Given the description of an element on the screen output the (x, y) to click on. 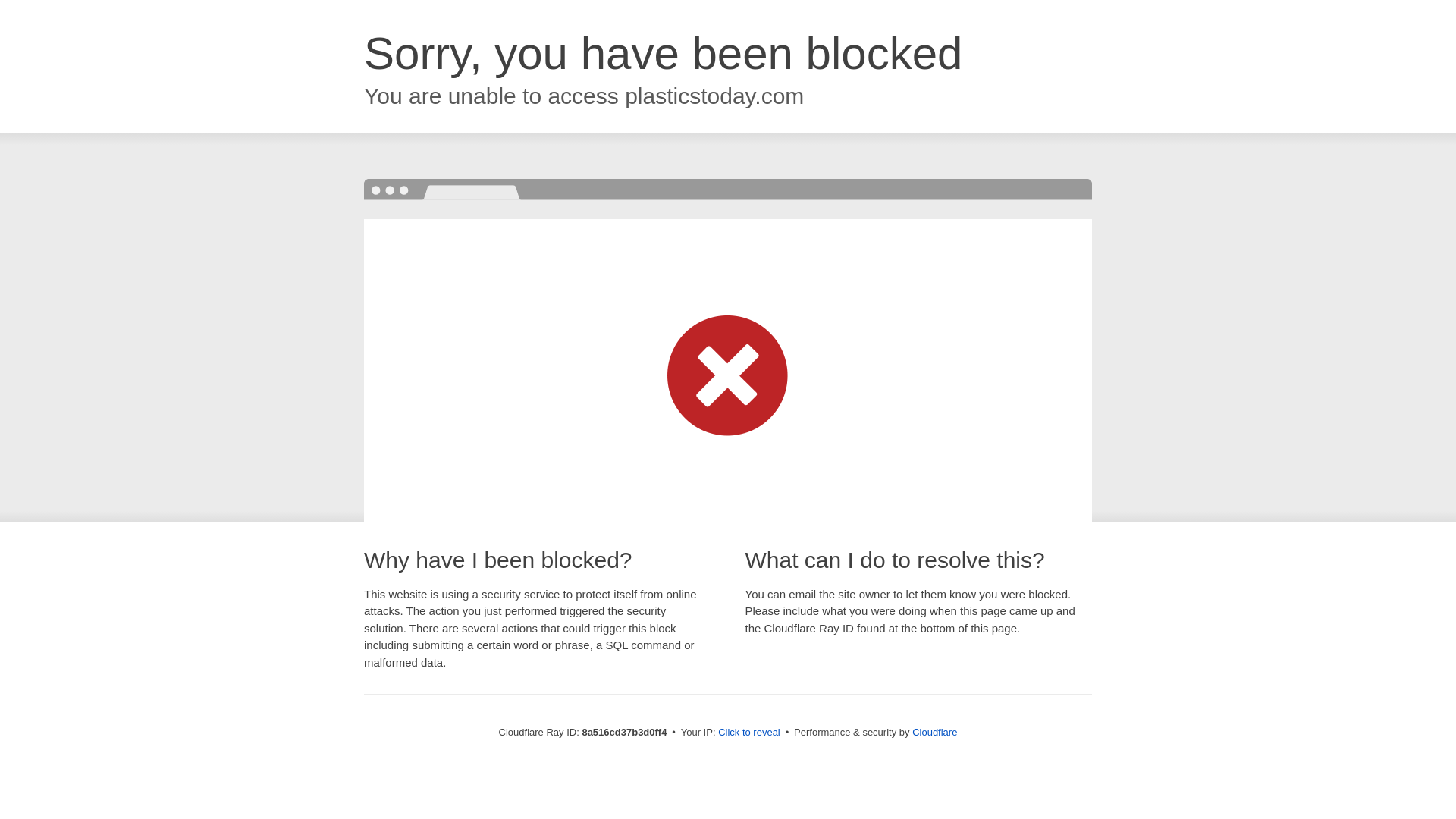
Cloudflare (934, 731)
Click to reveal (748, 732)
